Given the description of an element on the screen output the (x, y) to click on. 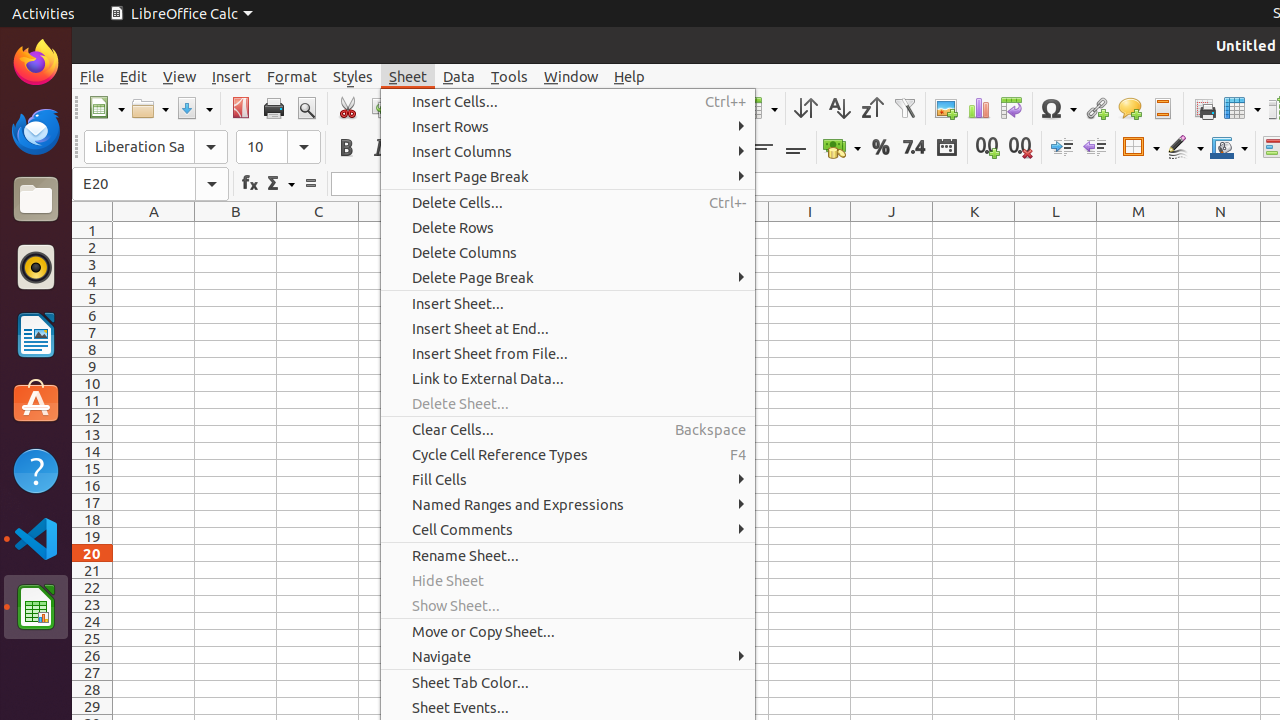
Number Element type: push-button (913, 147)
Tools Element type: menu (509, 76)
Font Name Element type: combo-box (156, 147)
